Given the description of an element on the screen output the (x, y) to click on. 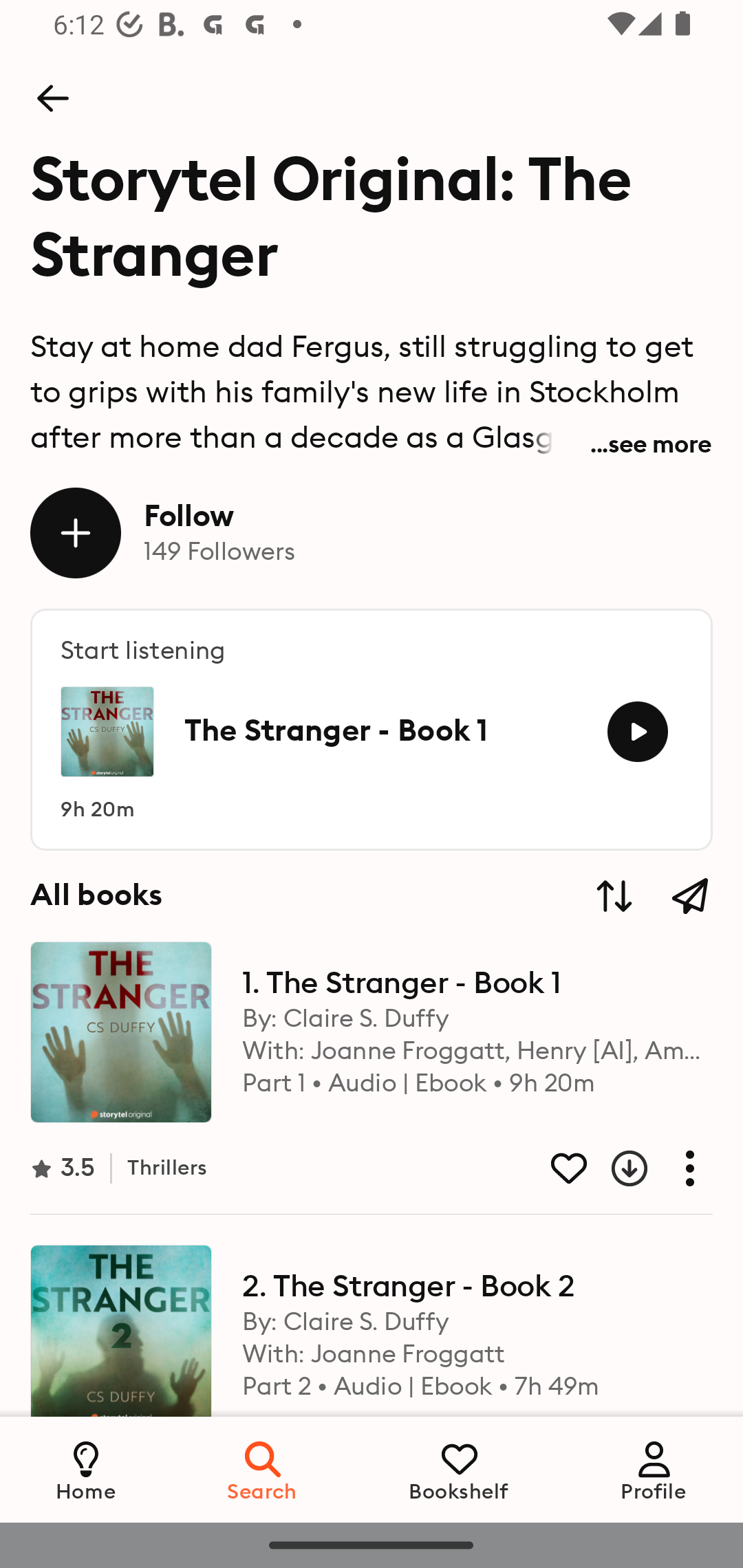
Back (52, 98)
Listen to book (637, 731)
Download (613, 1167)
Home (85, 1468)
Search (262, 1468)
Bookshelf (458, 1468)
Profile (653, 1468)
